Given the description of an element on the screen output the (x, y) to click on. 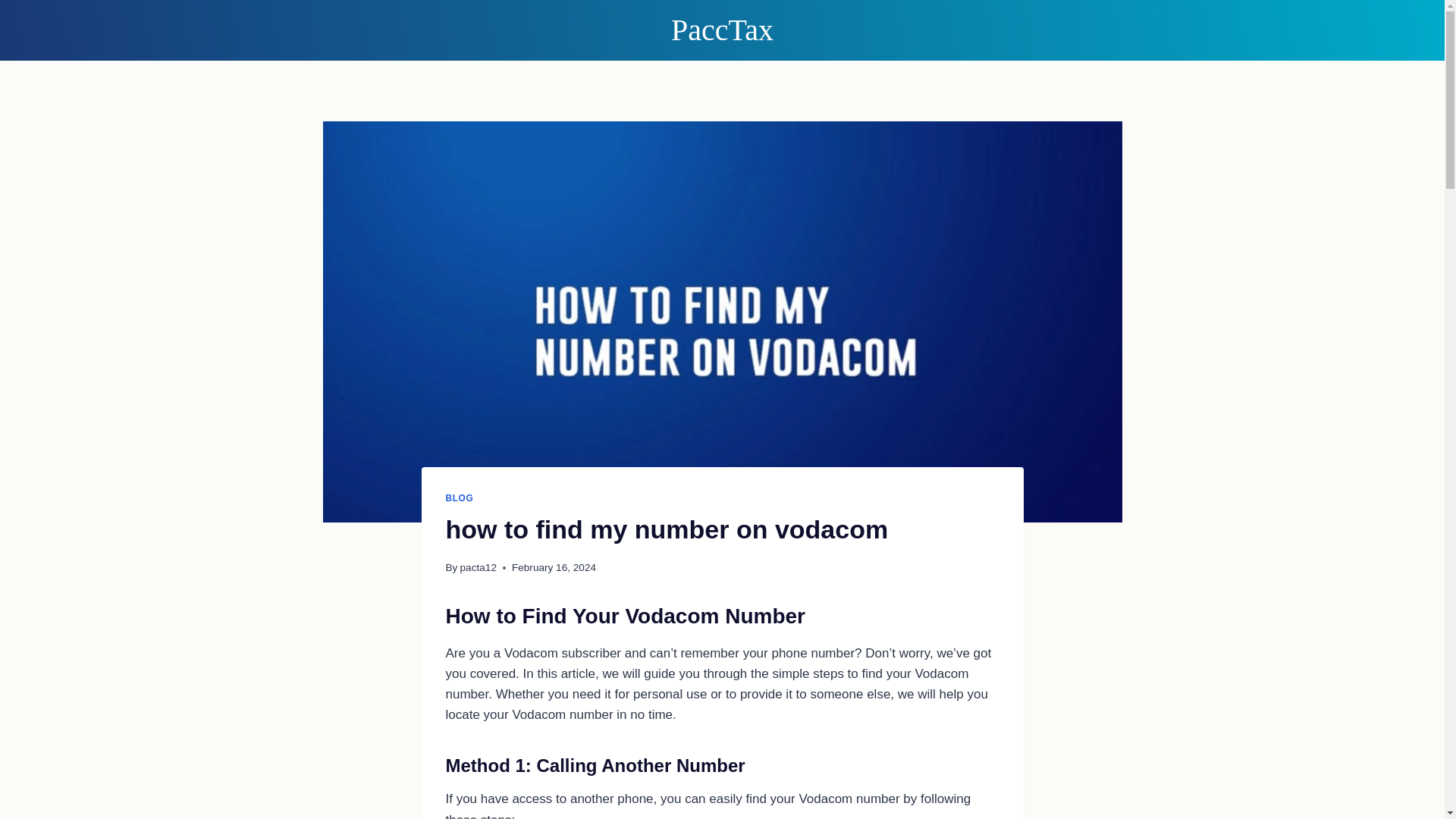
PaccTax (722, 30)
BLOG (459, 498)
pacta12 (478, 567)
